Given the description of an element on the screen output the (x, y) to click on. 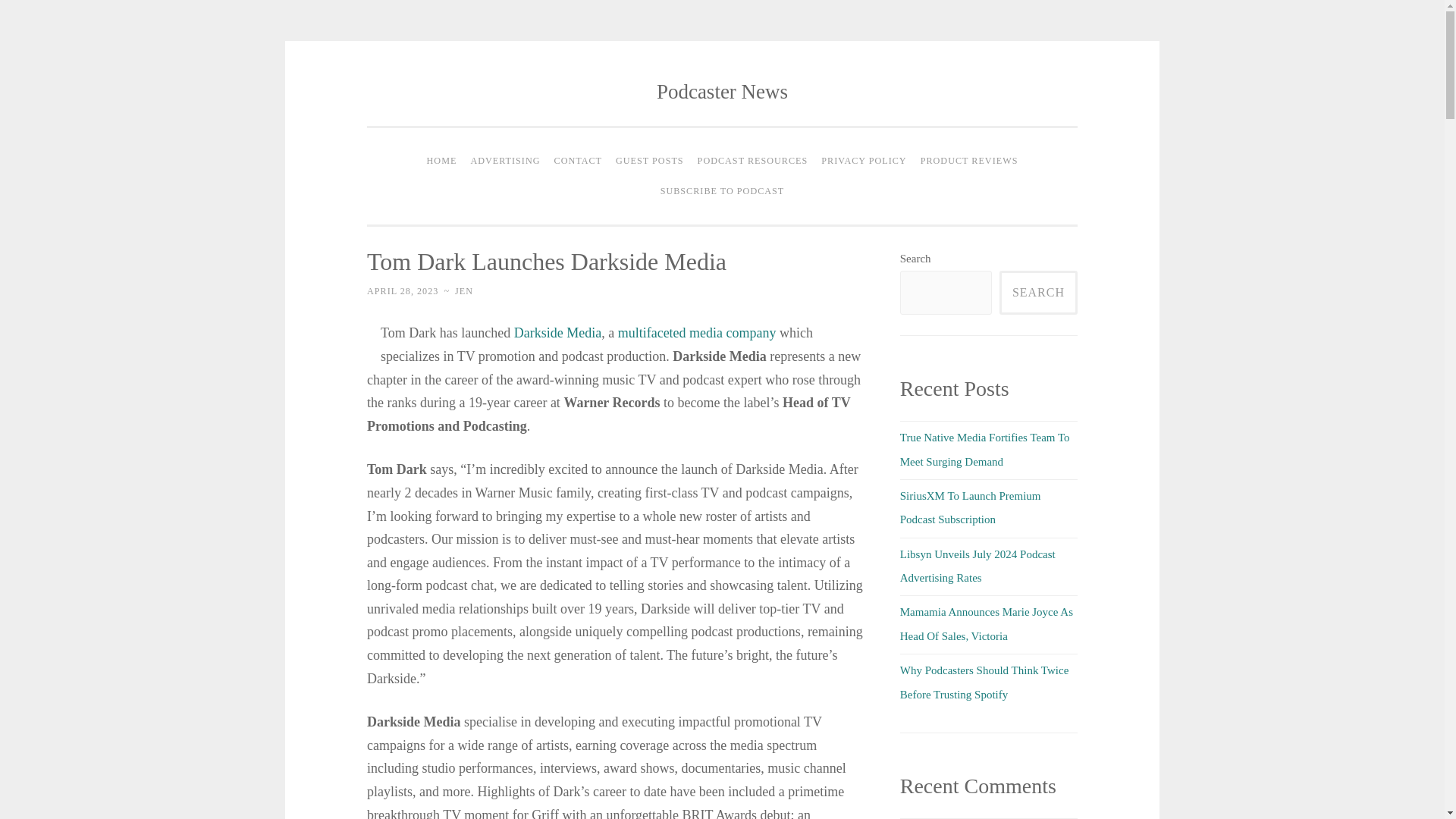
multifaceted media company (696, 332)
Mamamia Announces Marie Joyce As Head Of Sales, Victoria (986, 623)
Why Podcasters Should Think Twice Before Trusting Spotify (983, 682)
PODCAST RESOURCES (752, 161)
SUBSCRIBE TO PODCAST (722, 191)
Darkside Media (556, 332)
GUEST POSTS (649, 161)
Libsyn Unveils July 2024 Podcast Advertising Rates (977, 565)
HOME (442, 161)
